Given the description of an element on the screen output the (x, y) to click on. 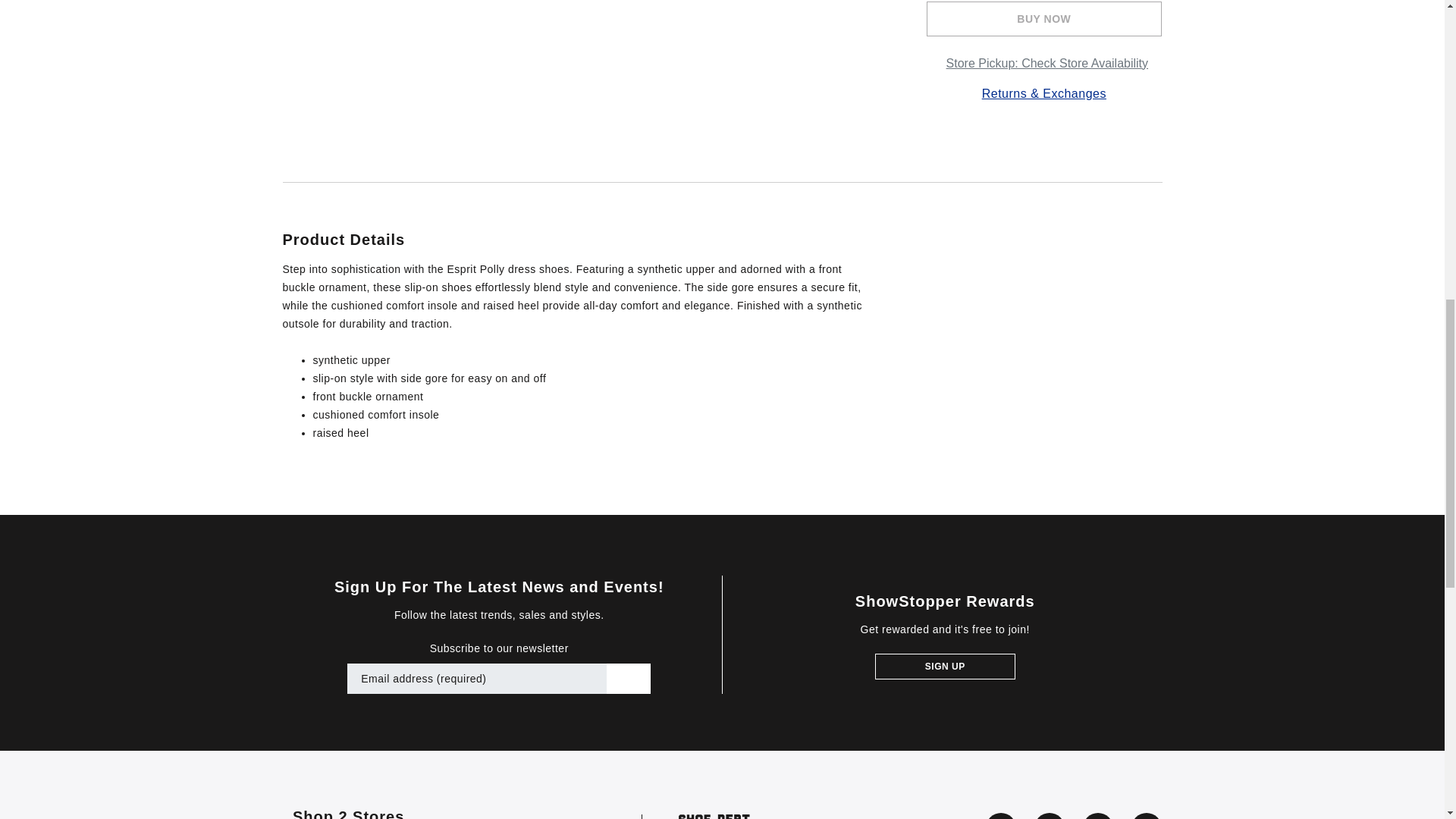
Sign Up (944, 666)
